Given the description of an element on the screen output the (x, y) to click on. 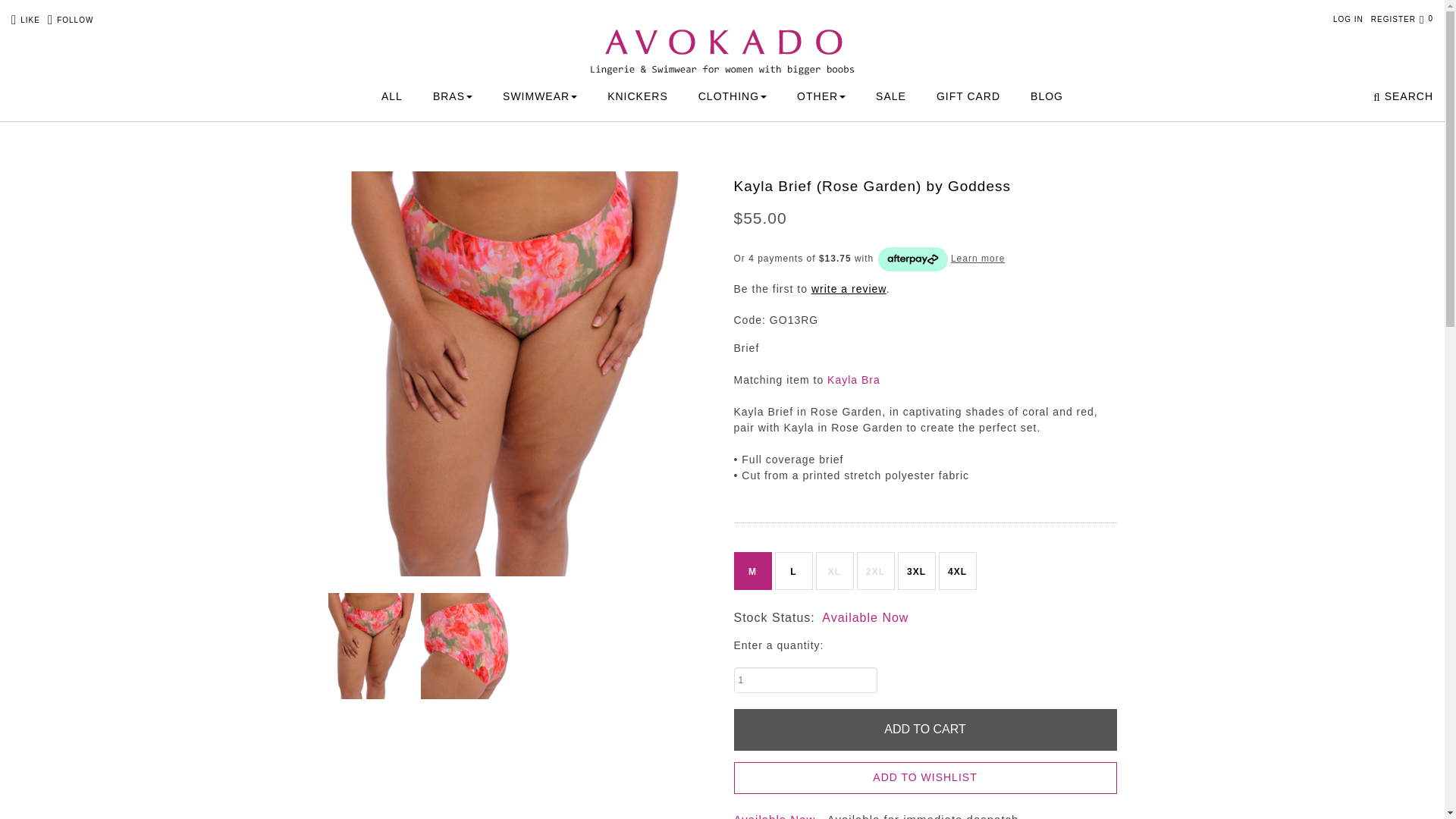
SWIMWEAR (539, 96)
SALE (890, 96)
SEARCH (1402, 97)
Blog (1046, 96)
LIKE (25, 19)
Add to cart (924, 730)
LOG IN (1347, 19)
Avokado (722, 39)
KNICKERS (637, 96)
Register (1393, 19)
REGISTER (1393, 19)
BLOG (1046, 96)
Gift Card (968, 96)
SWIMWEAR (539, 96)
FOLLOW (70, 19)
